Given the description of an element on the screen output the (x, y) to click on. 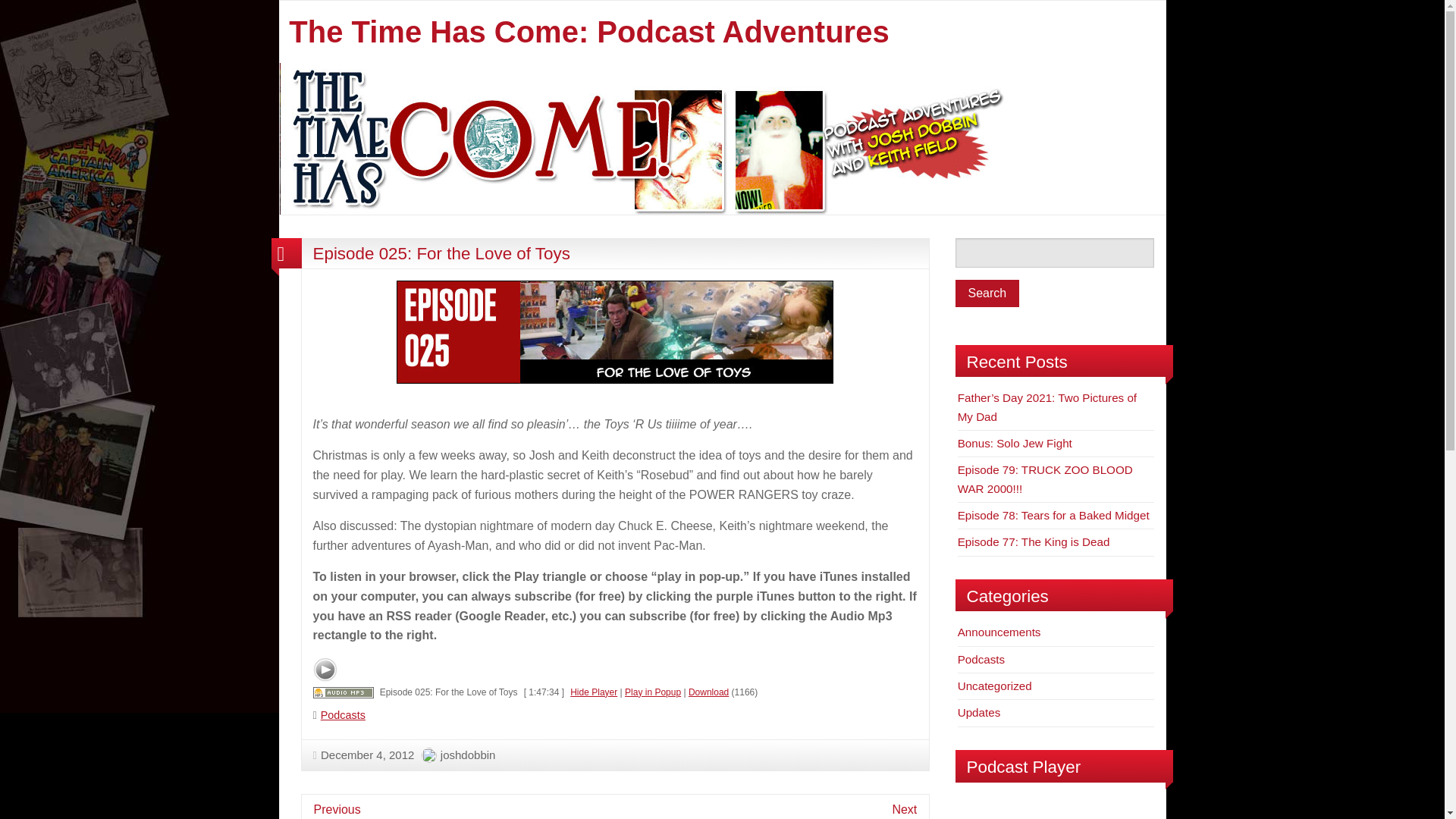
December 4, 2012 (363, 753)
Bonus: Solo Jew Fight (1014, 442)
Play in Popup (652, 692)
Episode 77: The King is Dead (1033, 541)
Previous (337, 808)
Hide Player (593, 692)
Episode 79: TRUCK ZOO BLOOD WAR 2000!!! (1045, 478)
Episode 77: The King is Dead (1033, 541)
Podcasts (981, 658)
Download (708, 692)
